Given the description of an element on the screen output the (x, y) to click on. 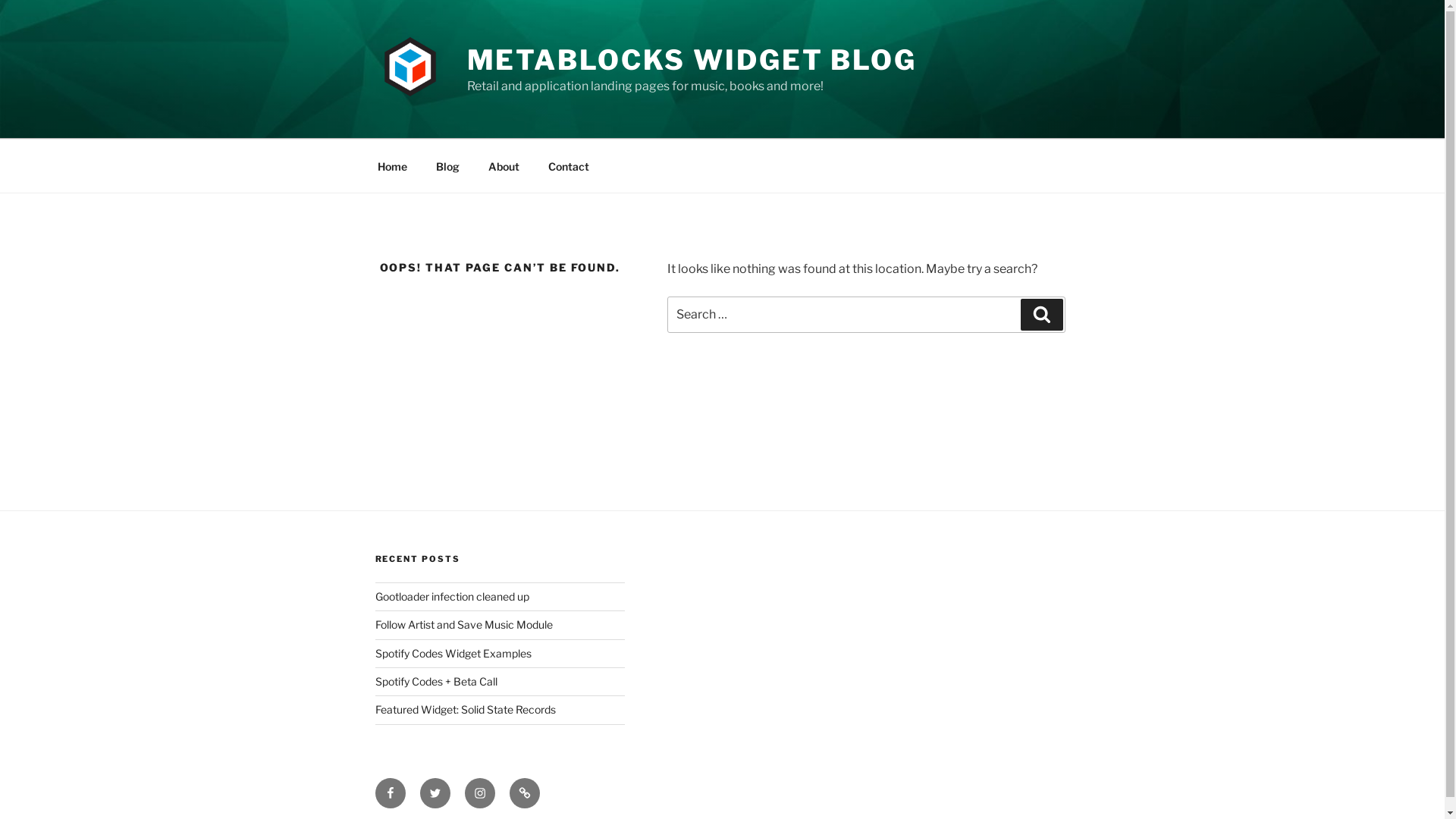
Spotify Codes Widget Examples Element type: text (452, 652)
Featured Widget: Solid State Records Element type: text (464, 708)
Home Element type: text (392, 165)
Contact Element type: text (568, 165)
Skip to content Element type: text (0, 0)
Facebook Element type: text (389, 793)
Instagram Element type: text (479, 793)
Email Element type: text (524, 793)
Spotify Codes + Beta Call Element type: text (435, 680)
Search Element type: text (1041, 314)
Blog Element type: text (448, 165)
Gootloader infection cleaned up Element type: text (451, 595)
Follow Artist and Save Music Module Element type: text (463, 624)
METABLOCKS WIDGET BLOG Element type: text (691, 59)
Twitter Element type: text (435, 793)
About Element type: text (503, 165)
